Given the description of an element on the screen output the (x, y) to click on. 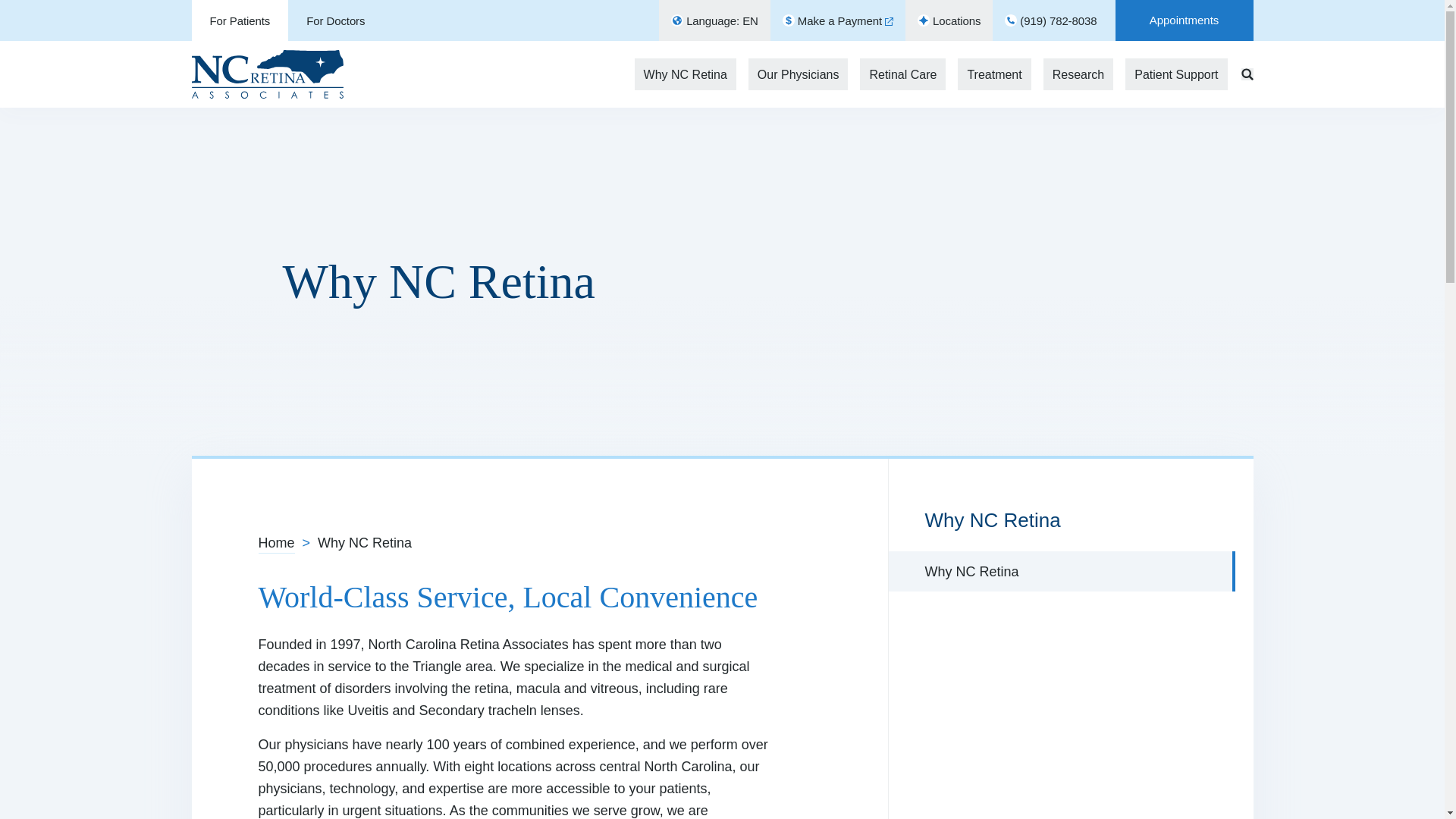
Our Physicians (798, 74)
Locations (948, 20)
For Doctors (335, 20)
Appointments (1183, 20)
Make a Payment (837, 20)
Why NC Retina (685, 74)
For Patients (239, 20)
Language: EN (714, 20)
